Given the description of an element on the screen output the (x, y) to click on. 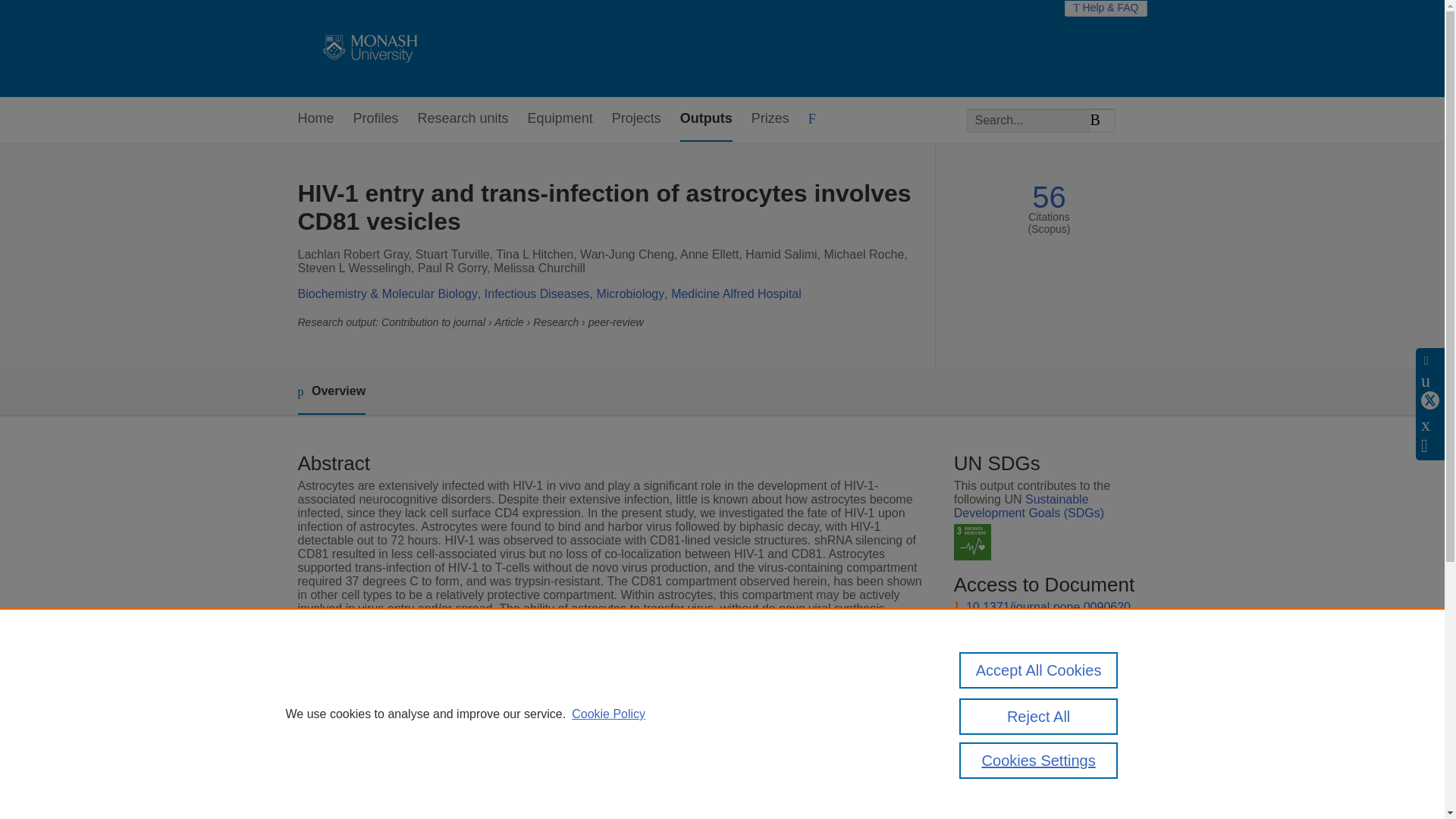
2404441-oa (998, 653)
CC BY (1020, 681)
SDG 3 - Good Health and Well-being (972, 542)
Projects (636, 119)
Equipment (559, 119)
Research units (462, 119)
Outputs (705, 119)
56 (1048, 197)
Microbiology (629, 293)
